Given the description of an element on the screen output the (x, y) to click on. 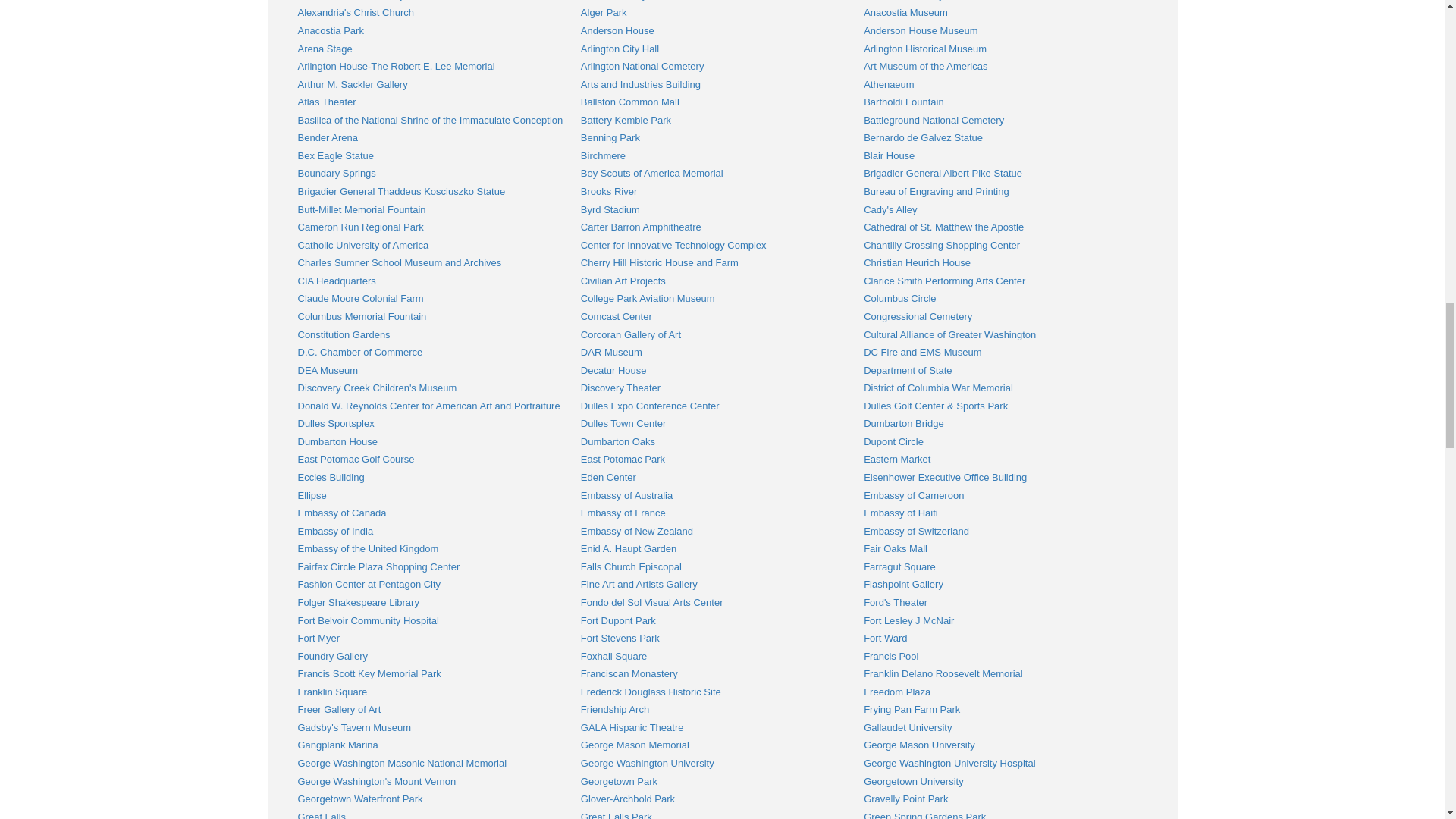
Alger Park (603, 12)
Anacostia Museum (905, 12)
Alexandria's Christ Church (355, 12)
